Given the description of an element on the screen output the (x, y) to click on. 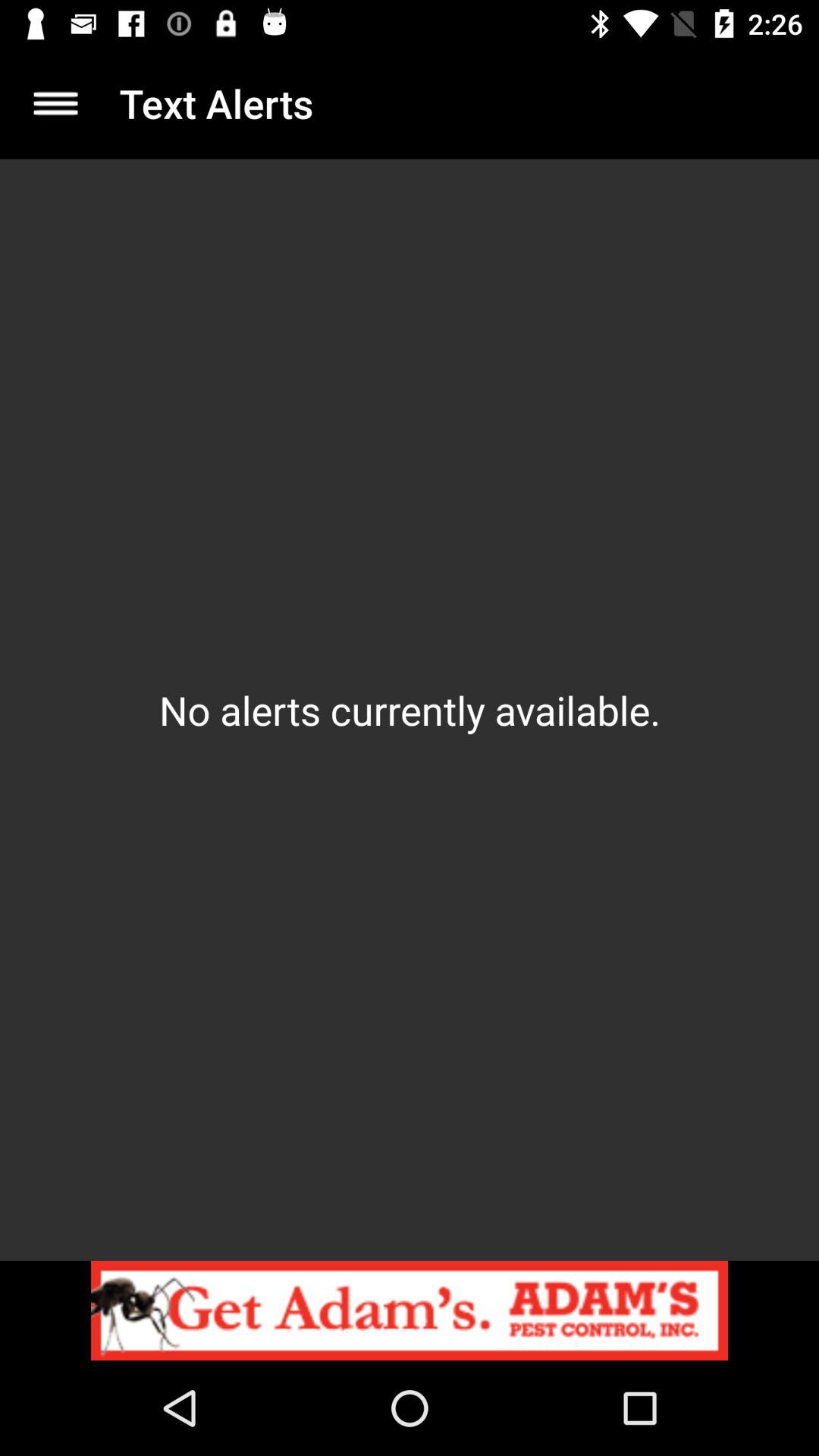
turn on item above no alerts currently (55, 103)
